Given the description of an element on the screen output the (x, y) to click on. 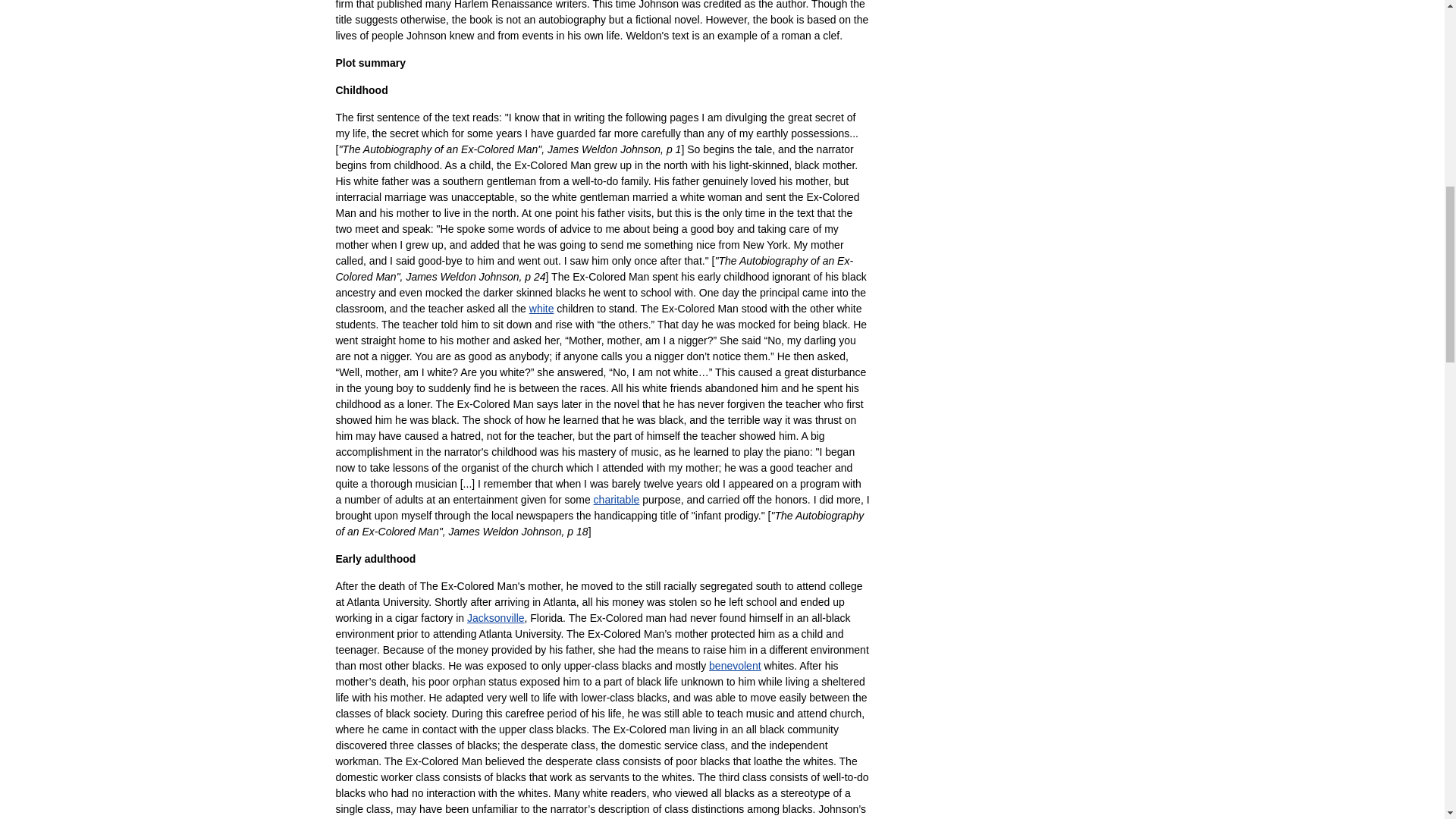
charitable (617, 499)
white (541, 308)
benevolent (735, 665)
Jacksonville (495, 617)
